Given the description of an element on the screen output the (x, y) to click on. 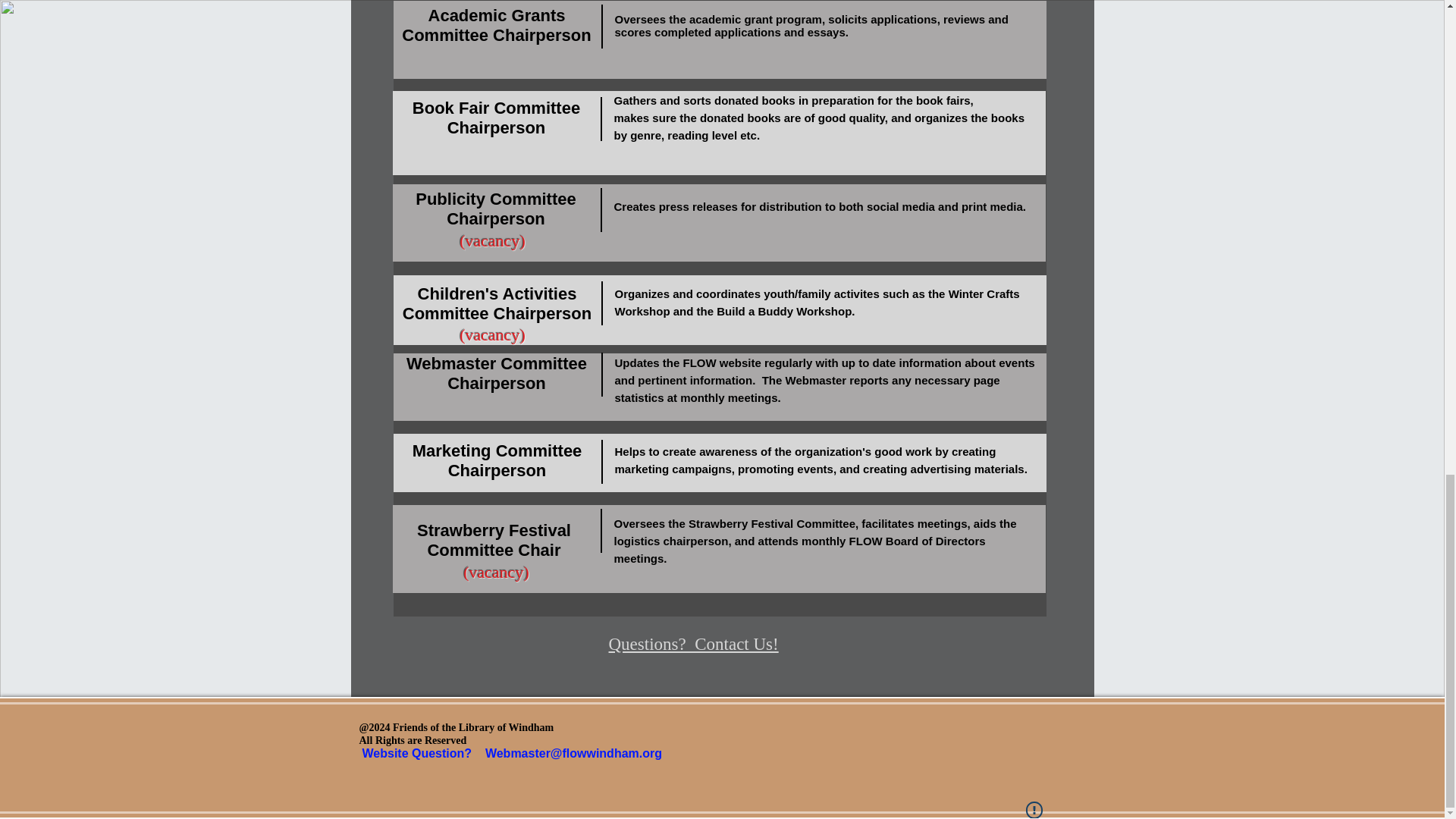
Questions?  Contact Us! (692, 643)
